Given the description of an element on the screen output the (x, y) to click on. 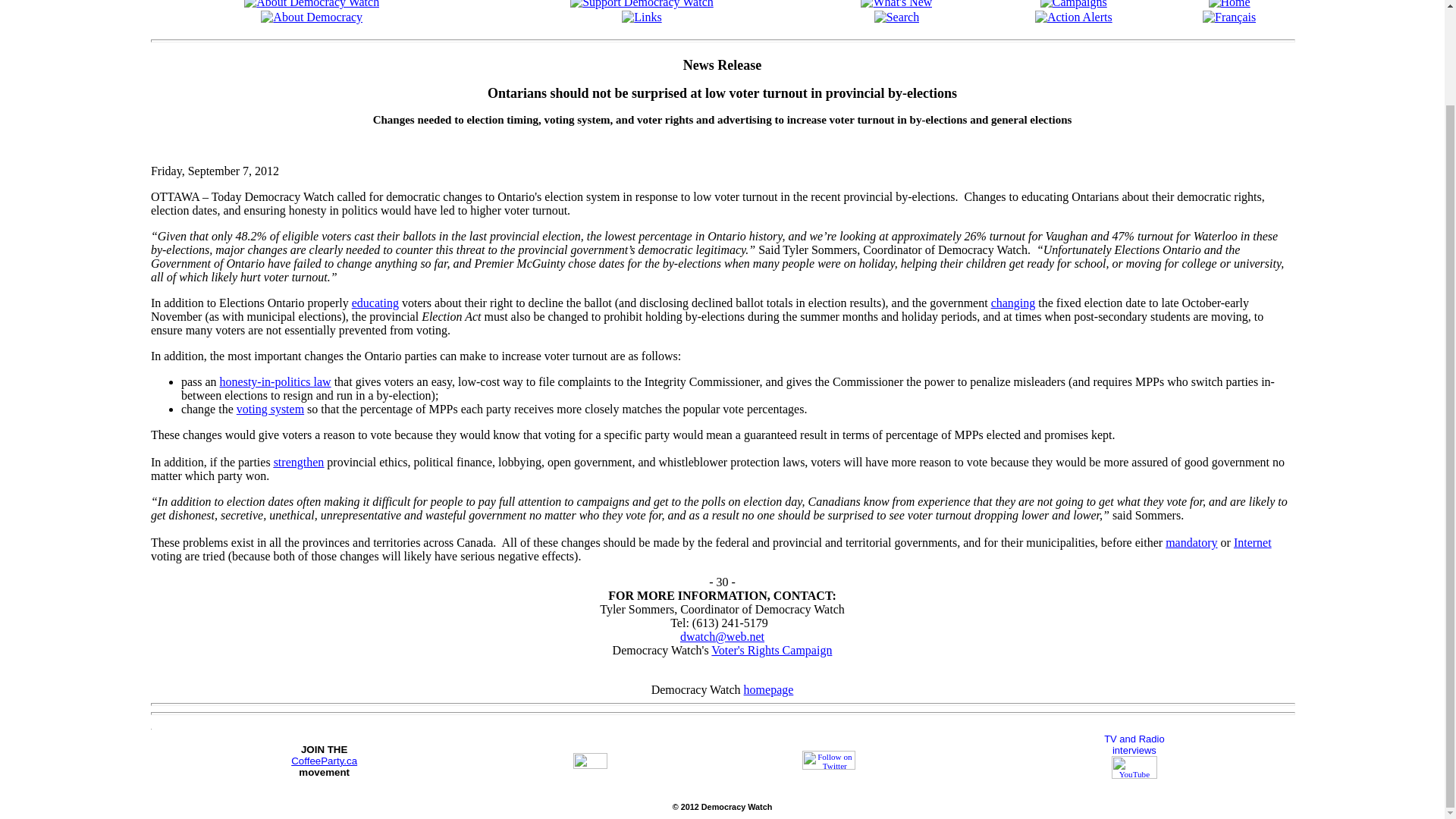
strengthen (298, 461)
TV and Radio (1133, 738)
CoffeeParty.ca (323, 760)
changing (1013, 302)
voting system (269, 408)
mandatory (1191, 542)
honesty-in-politics law (275, 381)
educating (375, 302)
homepage (768, 689)
interviews (1134, 749)
